Given the description of an element on the screen output the (x, y) to click on. 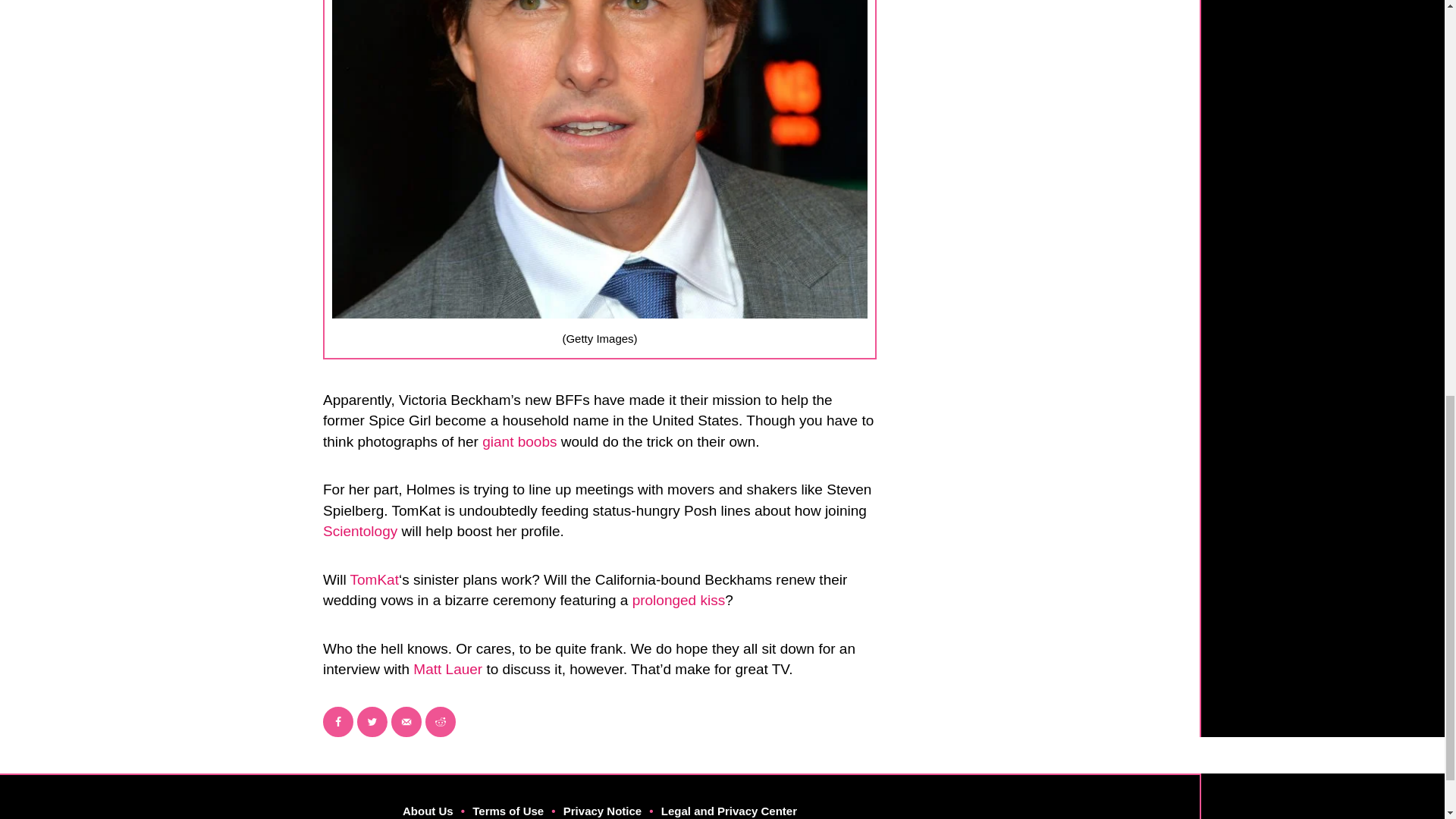
Share on Reddit (440, 721)
Share on Twitter (371, 721)
Share on Facebook (338, 721)
Send over email (406, 721)
